Given the description of an element on the screen output the (x, y) to click on. 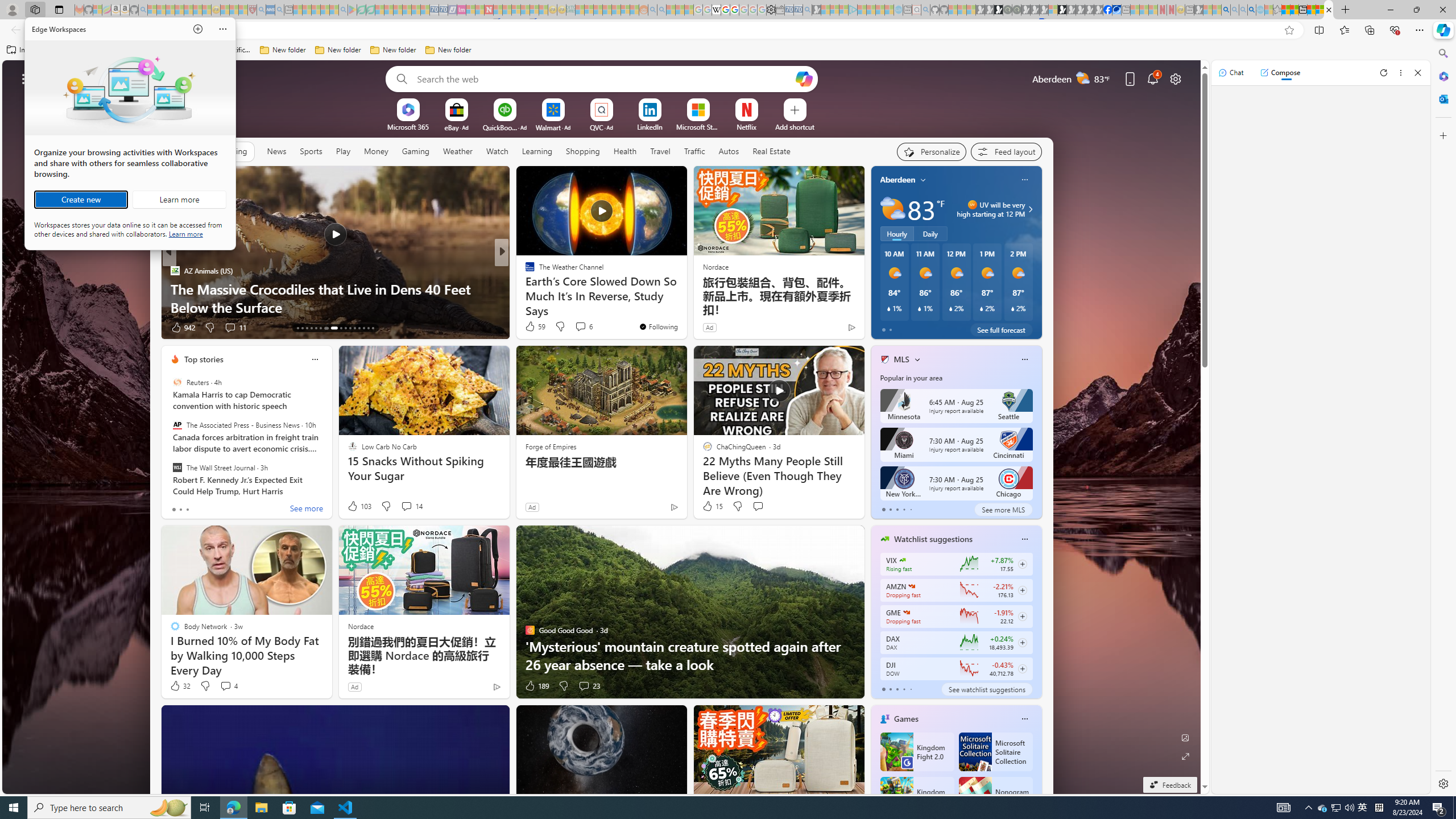
MSNBC - MSN - Sleeping (579, 9)
View comments 2 Comment (583, 327)
Learning (537, 151)
LinkedIn (649, 126)
google - Search - Sleeping (342, 9)
tab-3 (903, 689)
Expert Portfolios - Sleeping (606, 9)
24 Like (530, 327)
Top stories (203, 359)
